Given the description of an element on the screen output the (x, y) to click on. 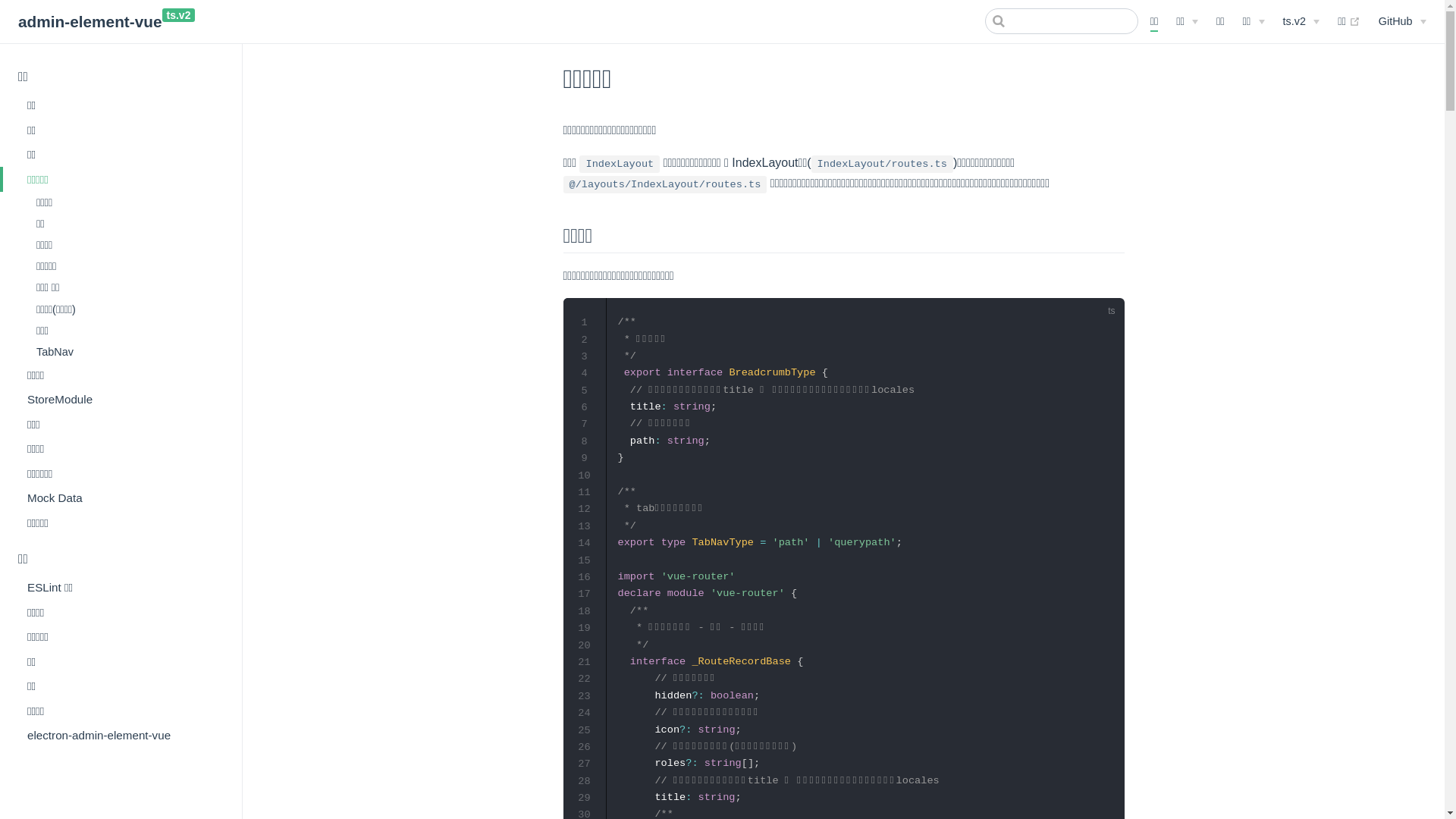
admin-element-vuets.v2 Element type: text (106, 22)
StoreModule Element type: text (120, 399)
GitHub Element type: text (1402, 20)
Mock Data Element type: text (120, 498)
ts.v2 Element type: text (1301, 20)
TabNav Element type: text (126, 351)
electron-admin-element-vue Element type: text (120, 734)
